Given the description of an element on the screen output the (x, y) to click on. 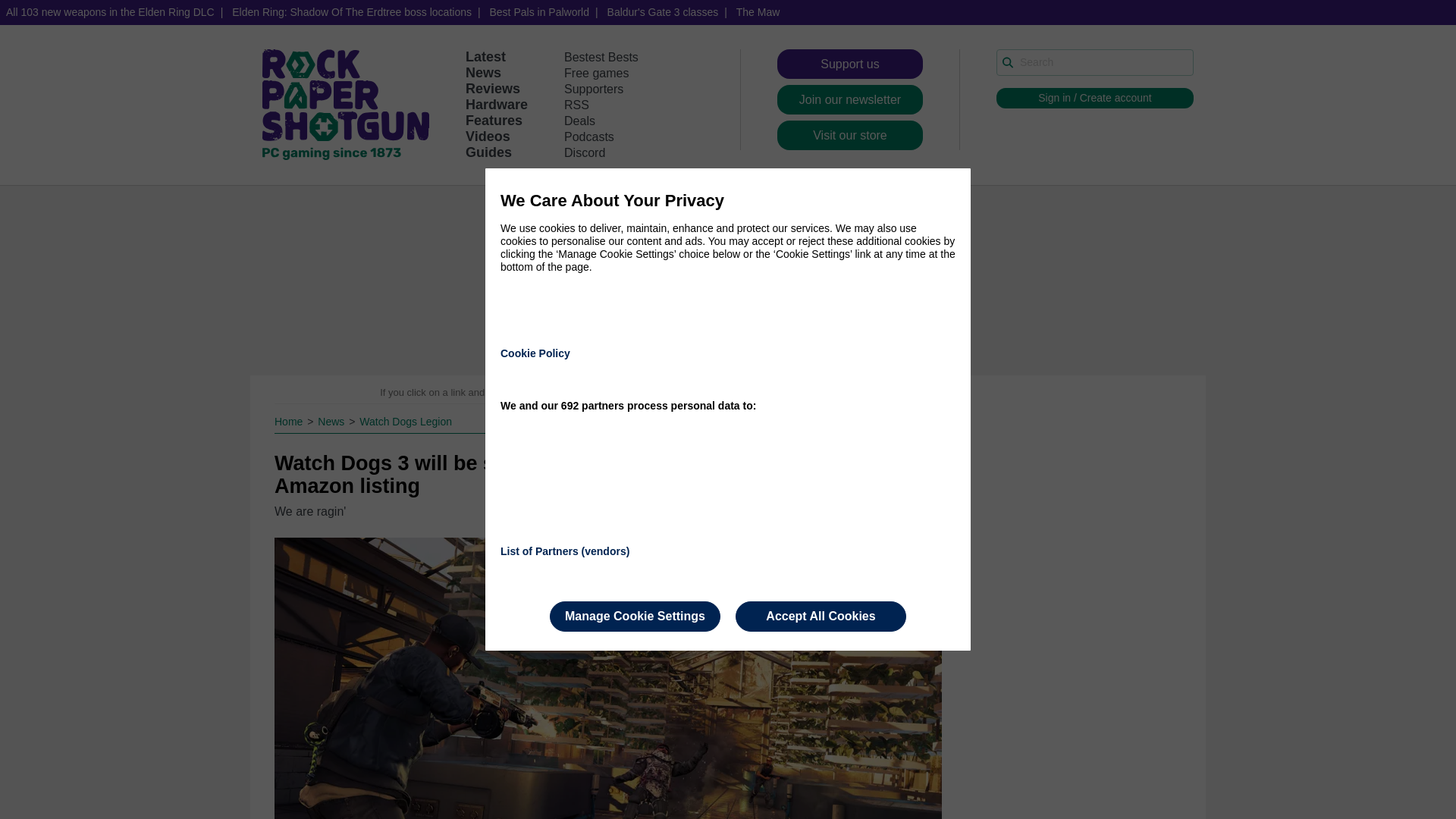
Free games (596, 72)
Discord (584, 152)
The Maw (758, 12)
Guides (488, 151)
Deals (579, 120)
Features (493, 120)
Elden Ring: Shadow Of The Erdtree boss locations (351, 12)
News (482, 72)
Best Pals in Palworld (539, 12)
Free games (596, 72)
Podcasts (589, 136)
Hardware (496, 104)
RSS (576, 104)
Supporters (593, 88)
Videos (488, 136)
